Given the description of an element on the screen output the (x, y) to click on. 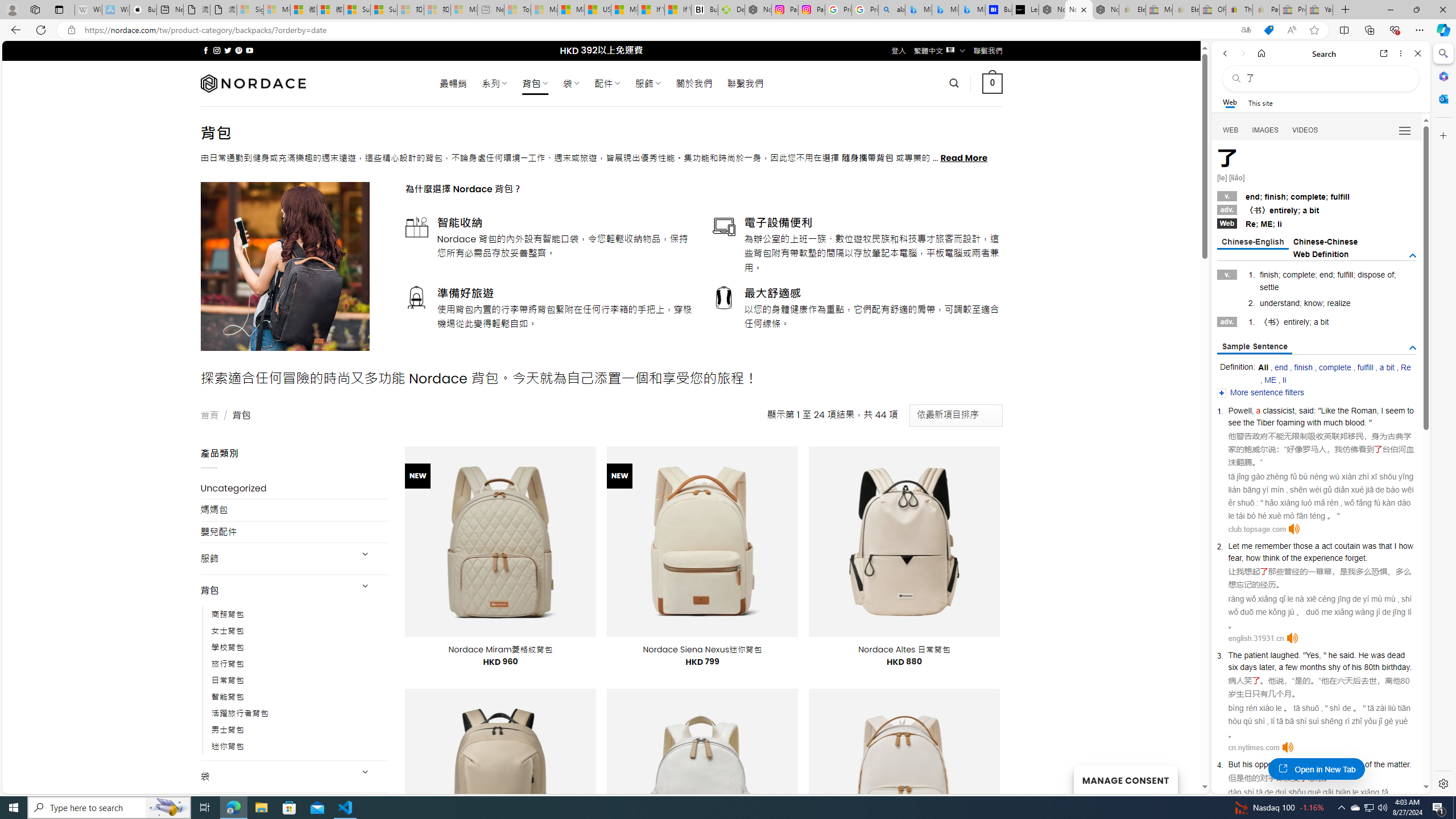
think (1331, 764)
how (1252, 557)
Sign in to your Microsoft account - Sleeping (249, 9)
see (1234, 422)
ME (1269, 379)
